Given the description of an element on the screen output the (x, y) to click on. 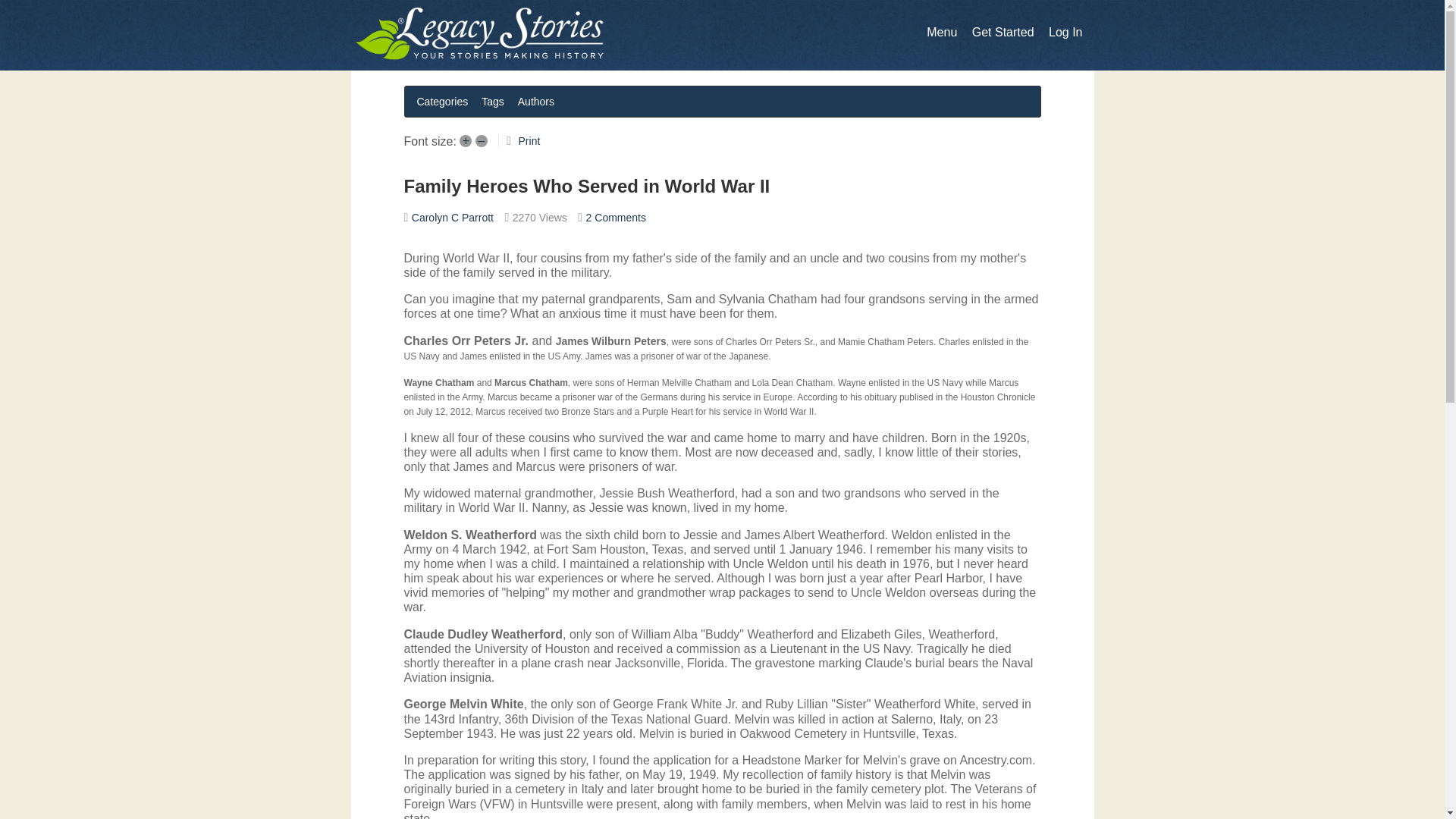
Get Started (1002, 31)
Log In (1064, 31)
Authors (536, 101)
Menu (941, 31)
Tags (493, 101)
Carolyn C Parrott (452, 217)
Print (529, 141)
Print (529, 141)
Categories (442, 101)
